Given the description of an element on the screen output the (x, y) to click on. 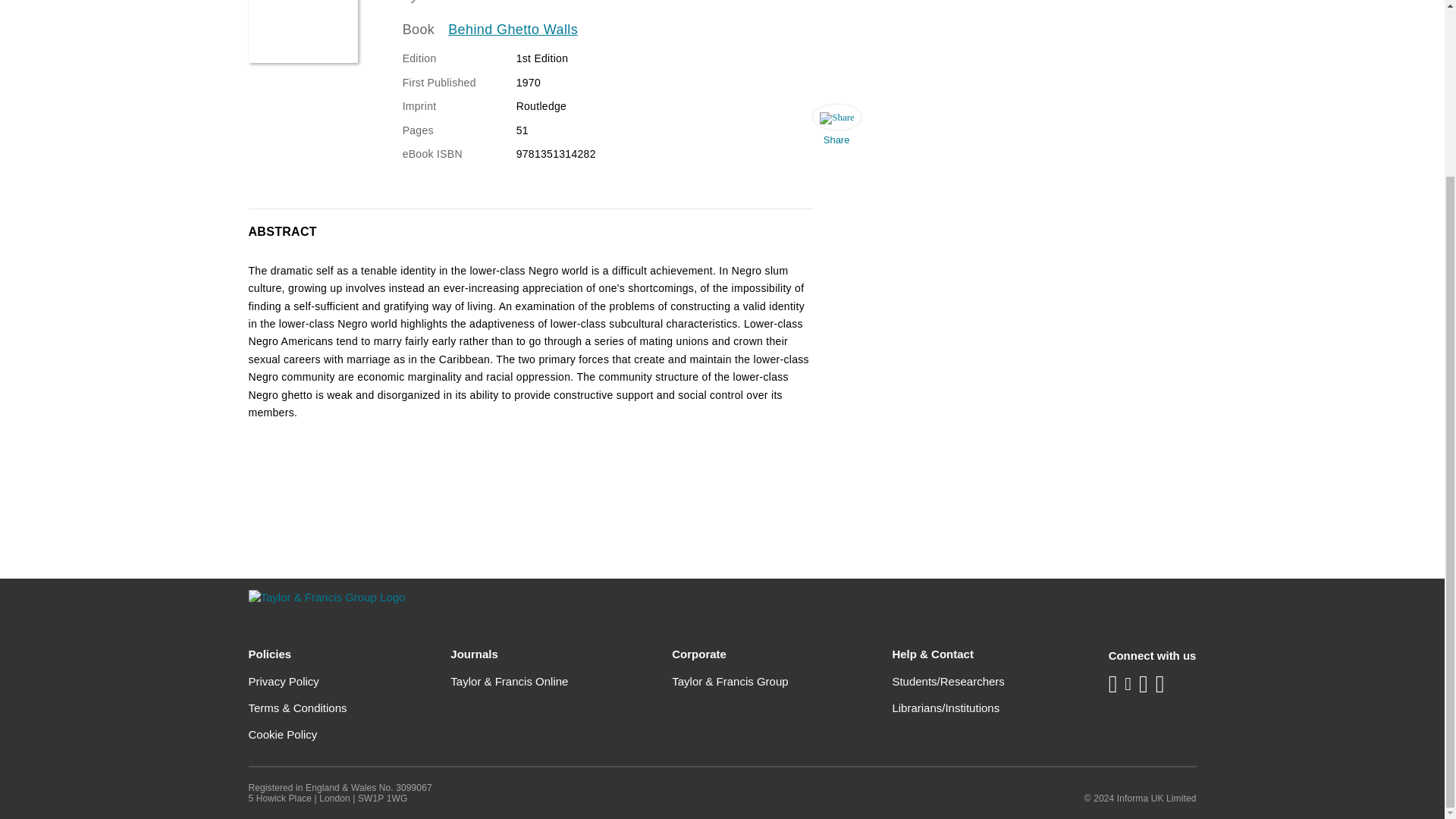
Lee Rainwater (467, 1)
Negro Lower-Class Identity and Culture (303, 31)
Behind Ghetto Walls (513, 29)
Cookie Policy (282, 734)
Share (836, 128)
Privacy Policy (283, 681)
